Given the description of an element on the screen output the (x, y) to click on. 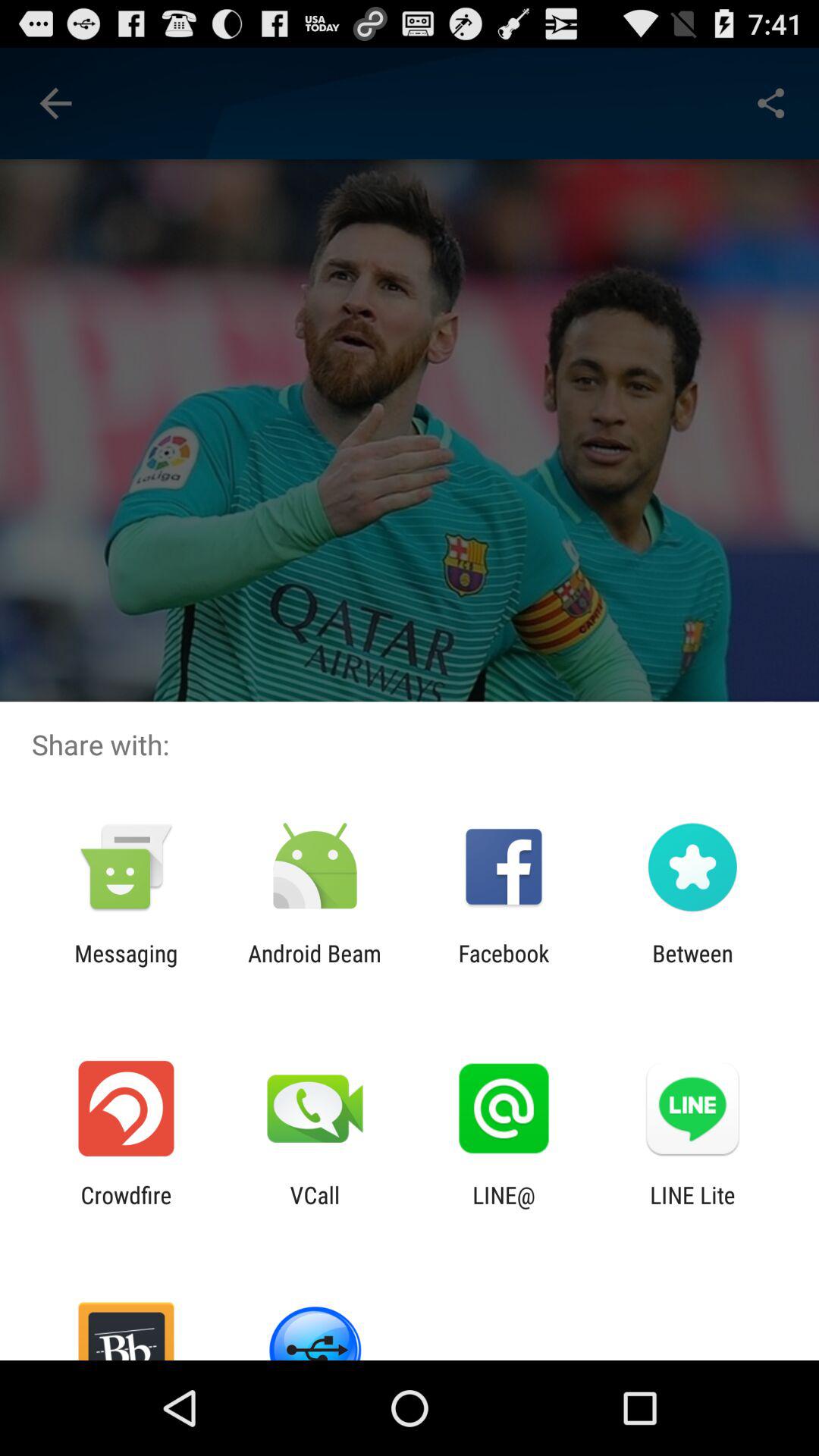
swipe until the line lite icon (692, 1208)
